Given the description of an element on the screen output the (x, y) to click on. 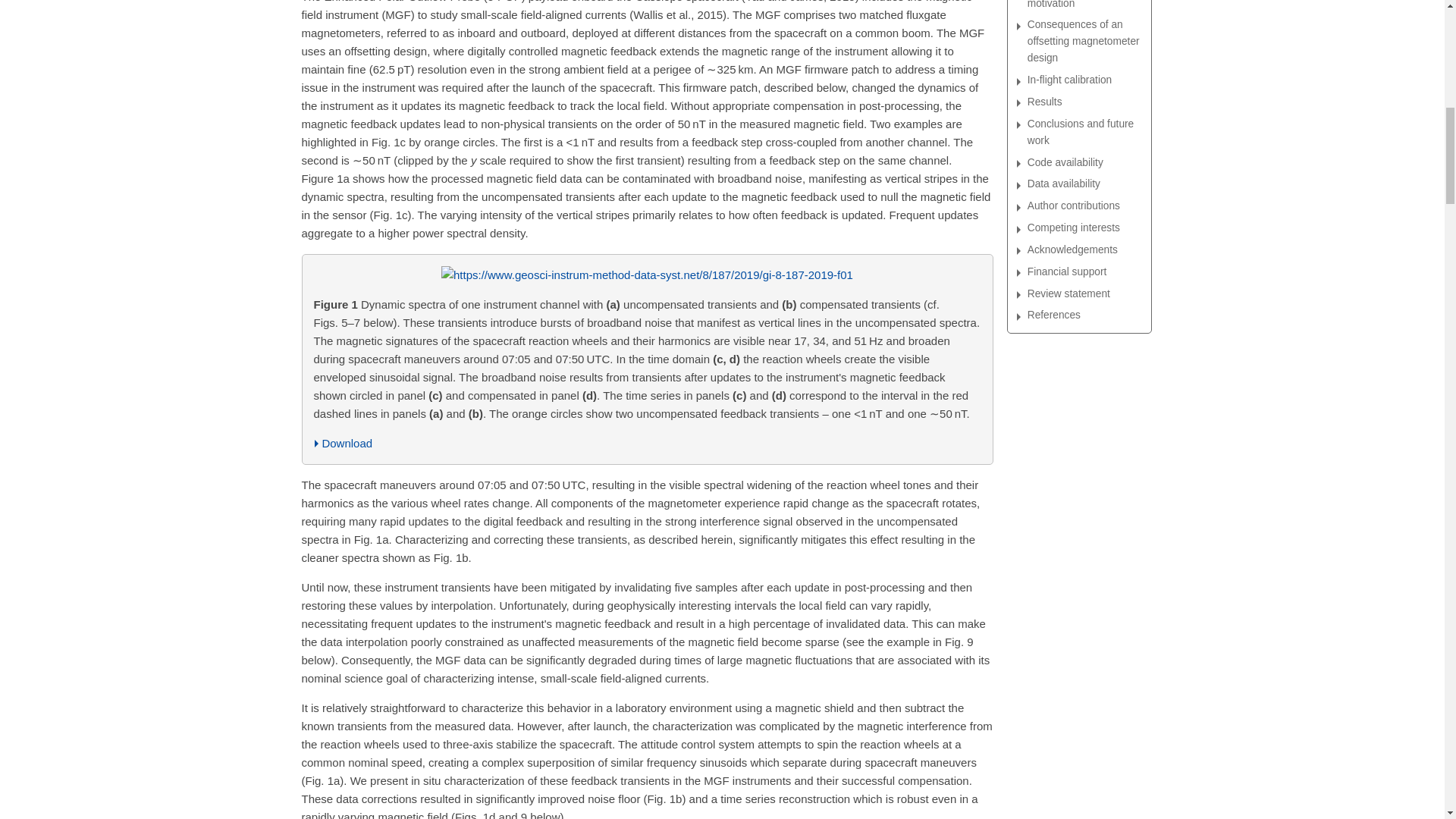
Author contributions (1083, 206)
References (1083, 315)
Introduction and motivation (1083, 6)
Acknowledgements (1083, 249)
In-flight calibration (1083, 80)
Code availability (1083, 162)
Data availability (1083, 184)
Financial support (1083, 271)
Conclusions and future work (1083, 132)
Results (1083, 102)
Review statement (1083, 293)
Competing interests (1083, 228)
Consequences of an offsetting magnetometer design (1083, 41)
